Given the description of an element on the screen output the (x, y) to click on. 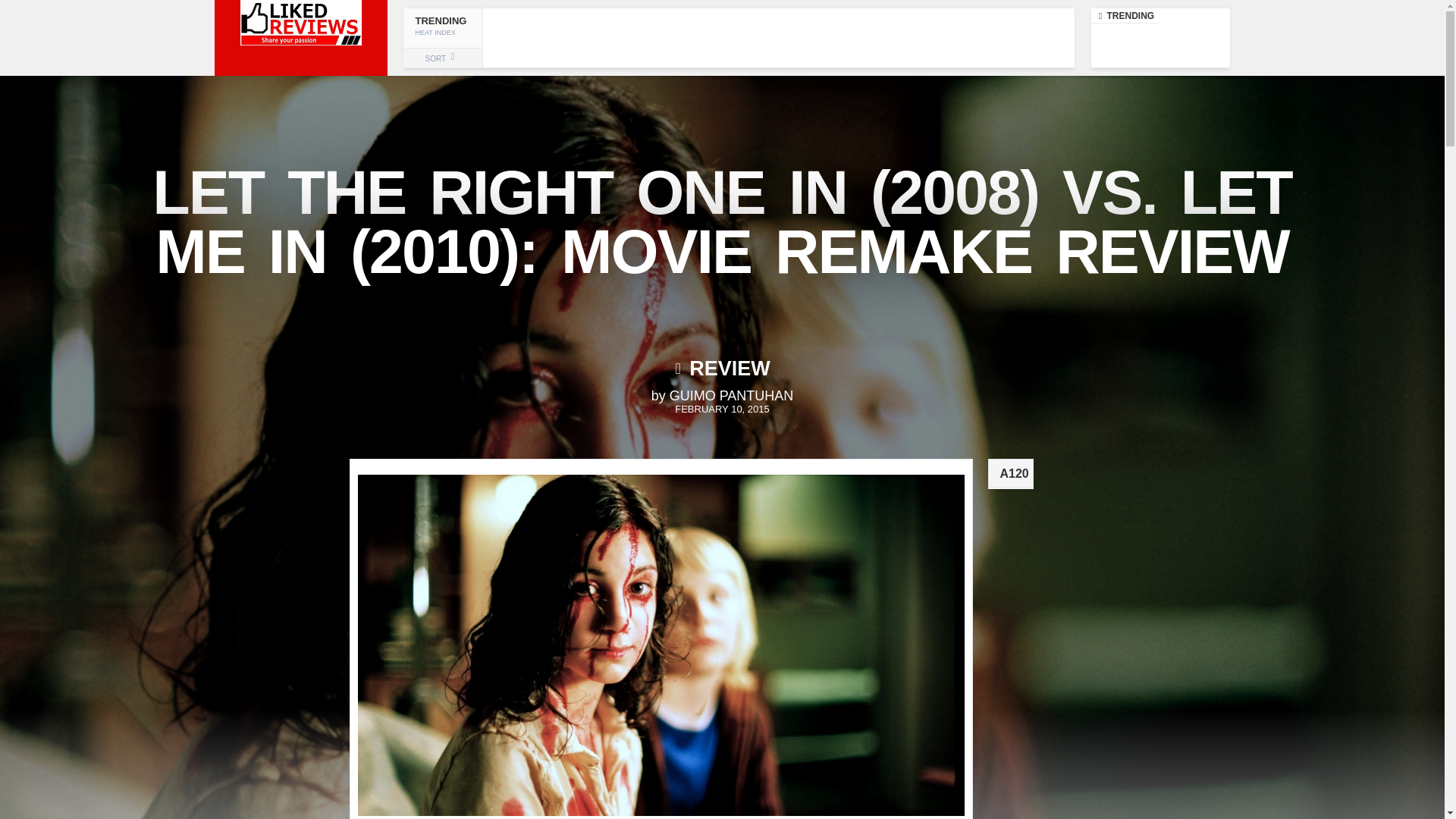
GUIMO PANTUHAN (731, 395)
